Given the description of an element on the screen output the (x, y) to click on. 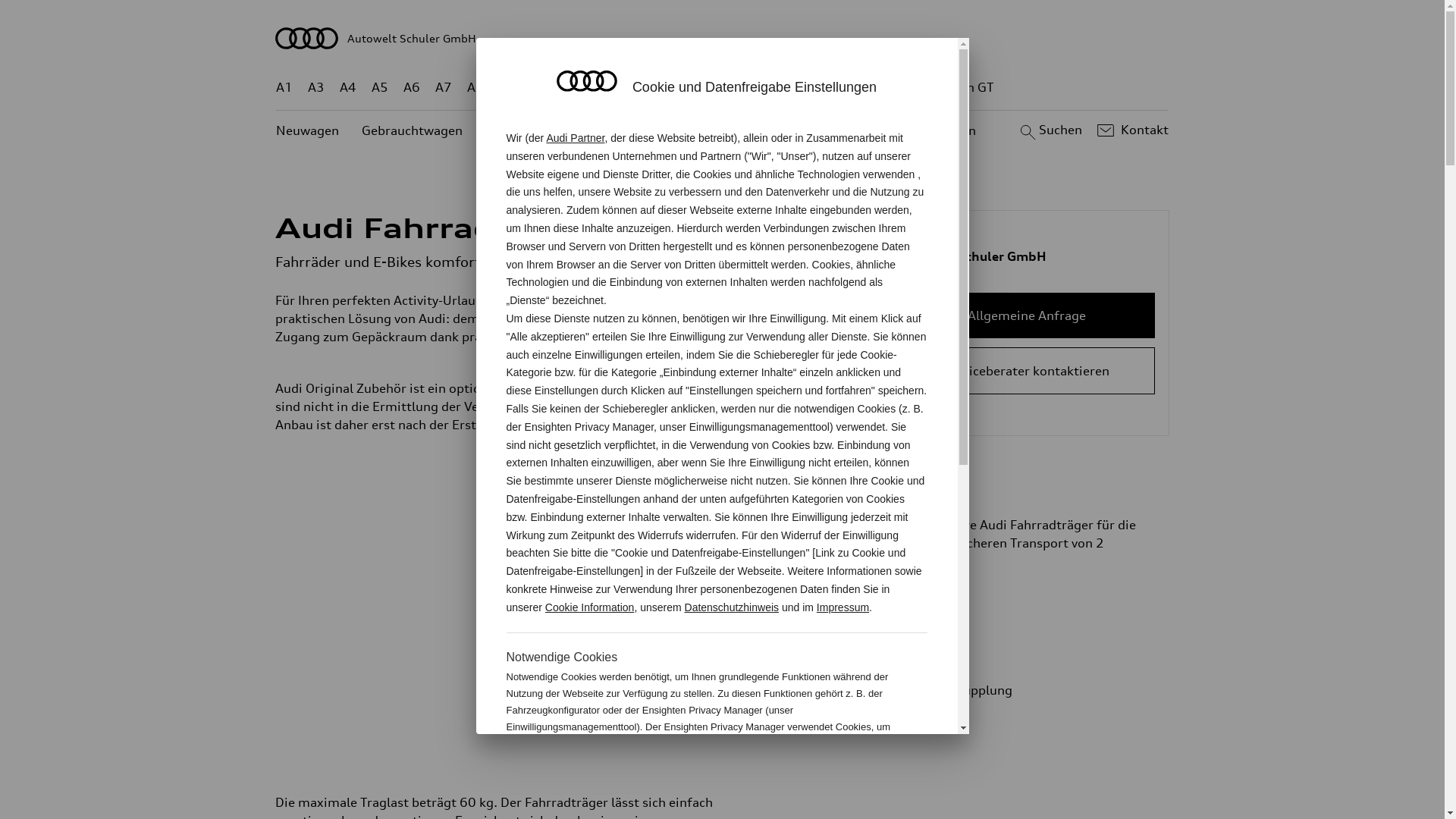
Impressum Element type: text (842, 607)
A5 Element type: text (379, 87)
Autowelt Schuler GmbH Element type: text (722, 38)
Suchen Element type: text (1049, 130)
A4 Element type: text (347, 87)
Cookie Information Element type: text (847, 776)
Q7 Element type: text (678, 87)
Gebrauchtwagen Element type: text (411, 130)
A6 Element type: text (411, 87)
RS Element type: text (861, 87)
Q2 Element type: text (507, 87)
Cookie Information Element type: text (589, 607)
Q8 Element type: text (710, 87)
A8 Element type: text (475, 87)
Serviceberater kontaktieren Element type: text (1025, 370)
Q3 Element type: text (540, 87)
Allgemeine Anfrage Element type: text (1025, 315)
Angebote Element type: text (636, 130)
g-tron Element type: text (903, 87)
A7 Element type: text (443, 87)
Datenschutzhinweis Element type: text (731, 607)
Q4 e-tron Element type: text (592, 87)
A3 Element type: text (315, 87)
Neuwagen Element type: text (307, 130)
Audi Partner Element type: text (575, 137)
TT Element type: text (814, 87)
e-tron GT Element type: text (965, 87)
A1 Element type: text (284, 87)
Q8 e-tron Element type: text (763, 87)
Kundenservice Element type: text (730, 130)
Kontakt Element type: text (1130, 130)
Q5 Element type: text (645, 87)
